Given the description of an element on the screen output the (x, y) to click on. 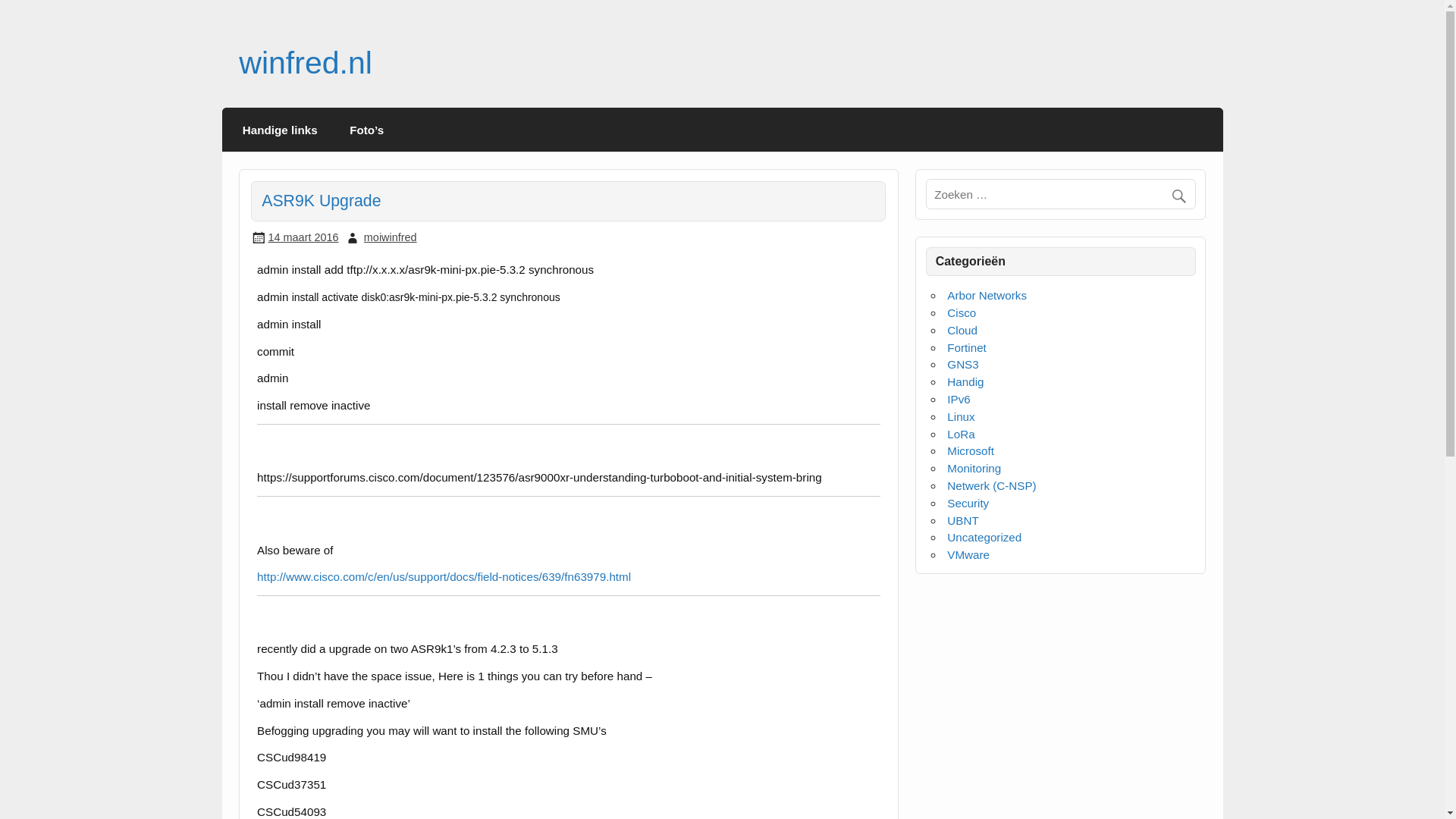
Microsoft (970, 450)
09:55 (302, 236)
IPv6 (958, 399)
Security (967, 502)
winfred.nl (305, 62)
Toon alle berichten van moiwinfred (390, 236)
Monitoring (974, 468)
Handige links (280, 129)
Cisco (961, 312)
VMware (968, 554)
